Given the description of an element on the screen output the (x, y) to click on. 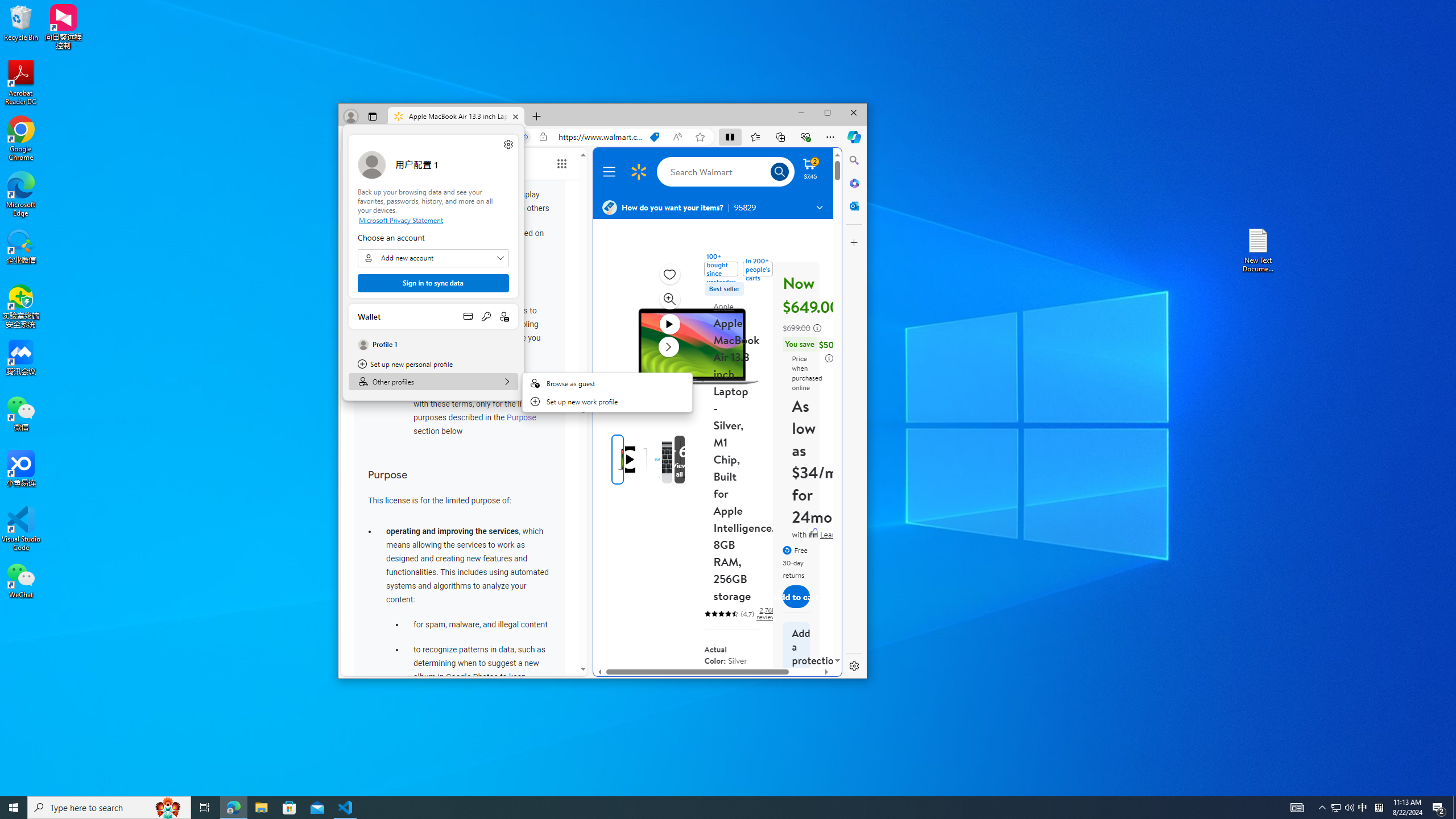
Type here to search (108, 807)
Context (606, 392)
Start (13, 807)
View all media (698, 459)
Open payment methods (467, 316)
Microsoft Privacy Statement (433, 220)
Profile 1 (432, 344)
Gold Gold, $649.00 (715, 692)
Show desktop (1454, 807)
Search icon (779, 171)
